Given the description of an element on the screen output the (x, y) to click on. 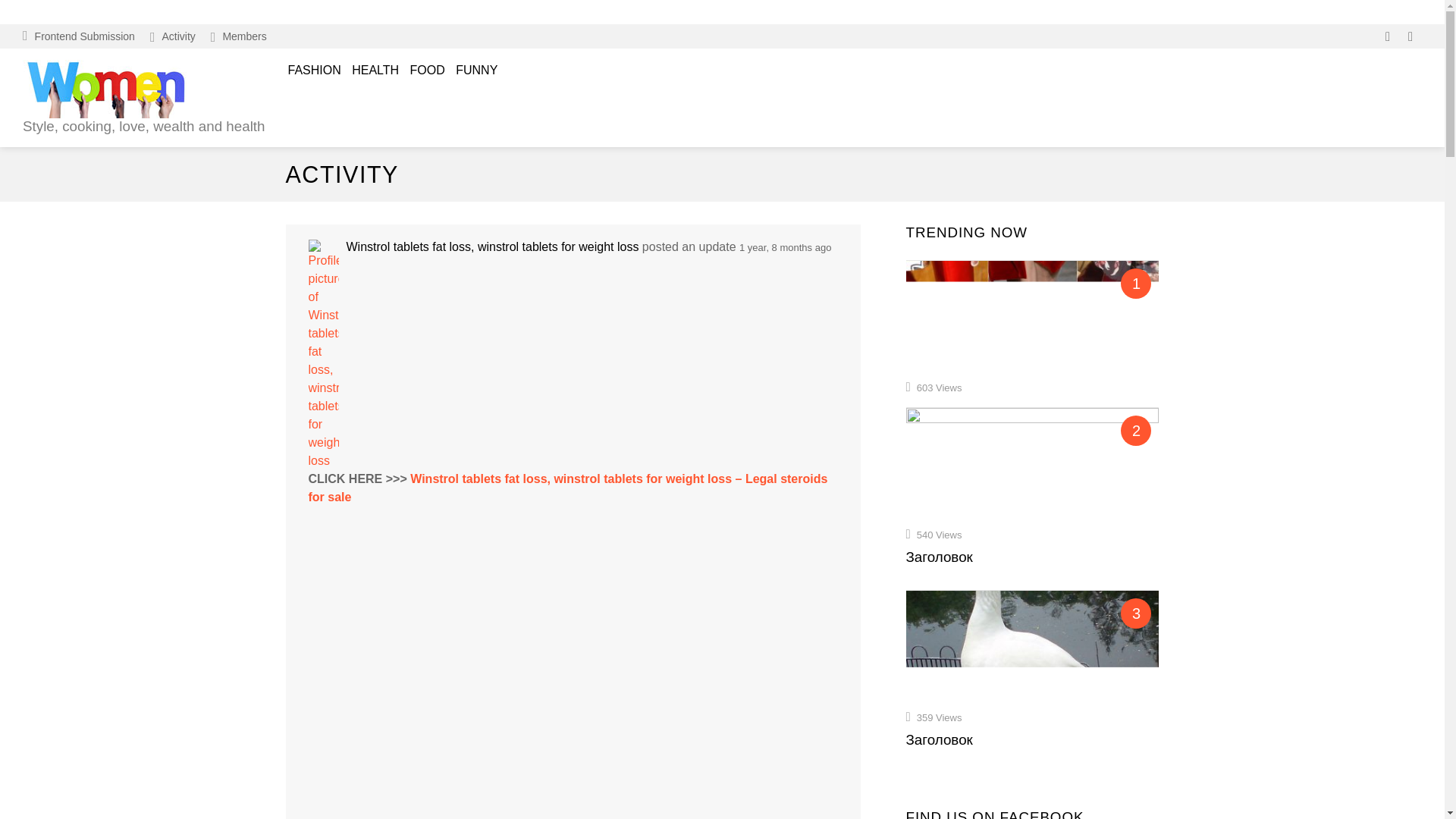
FASHION (313, 70)
FOLLOW US (1387, 36)
HEALTH (375, 70)
FOOD (427, 70)
Frontend Submission (78, 36)
Search (1201, 113)
SEARCH (1410, 36)
Winstrol tablets fat loss, winstrol tablets for weight loss (492, 246)
Activity (172, 36)
FUNNY (475, 70)
Members (239, 36)
Follow us (1387, 36)
